Given the description of an element on the screen output the (x, y) to click on. 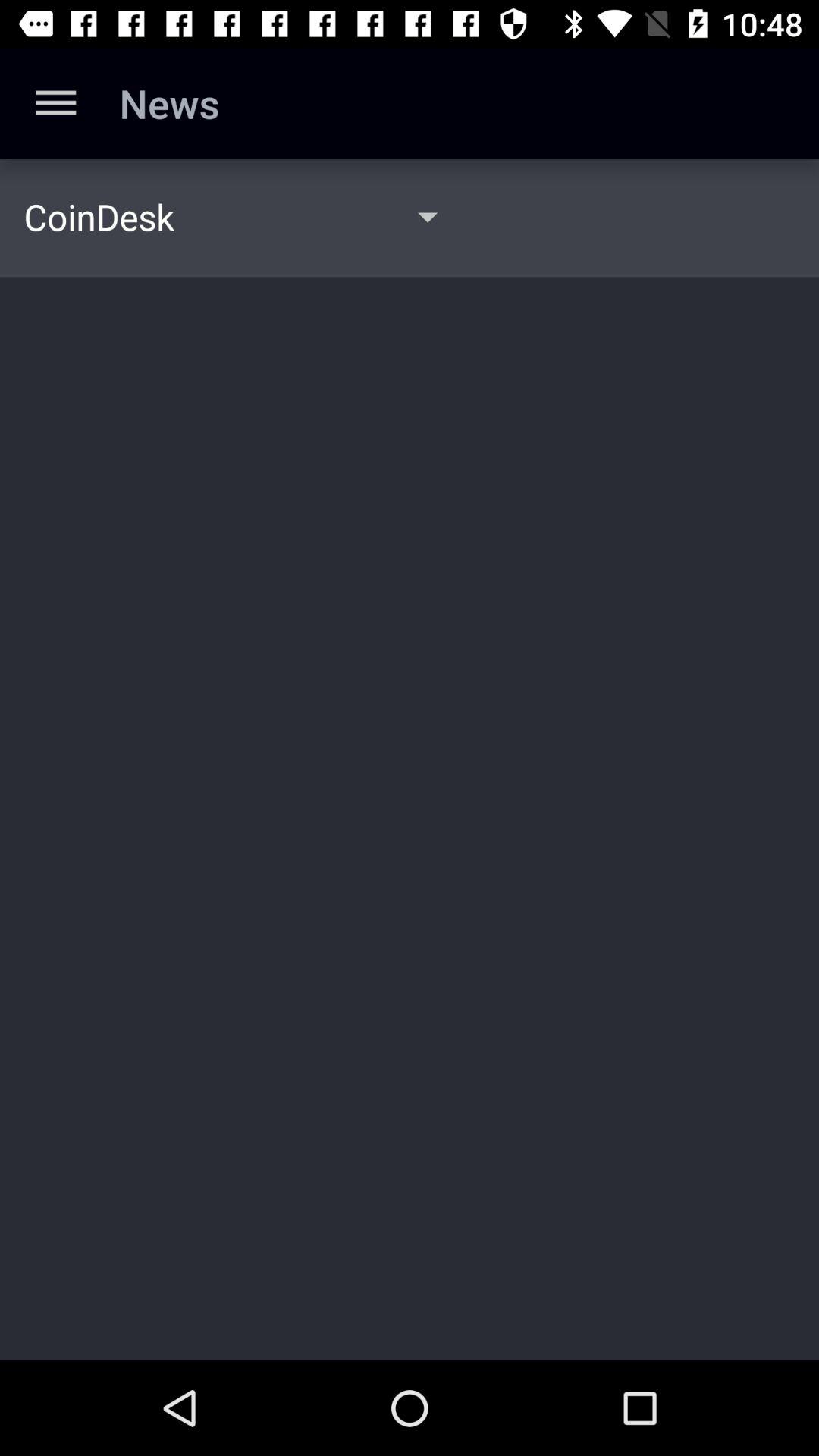
select the icon next to news item (55, 103)
